Given the description of an element on the screen output the (x, y) to click on. 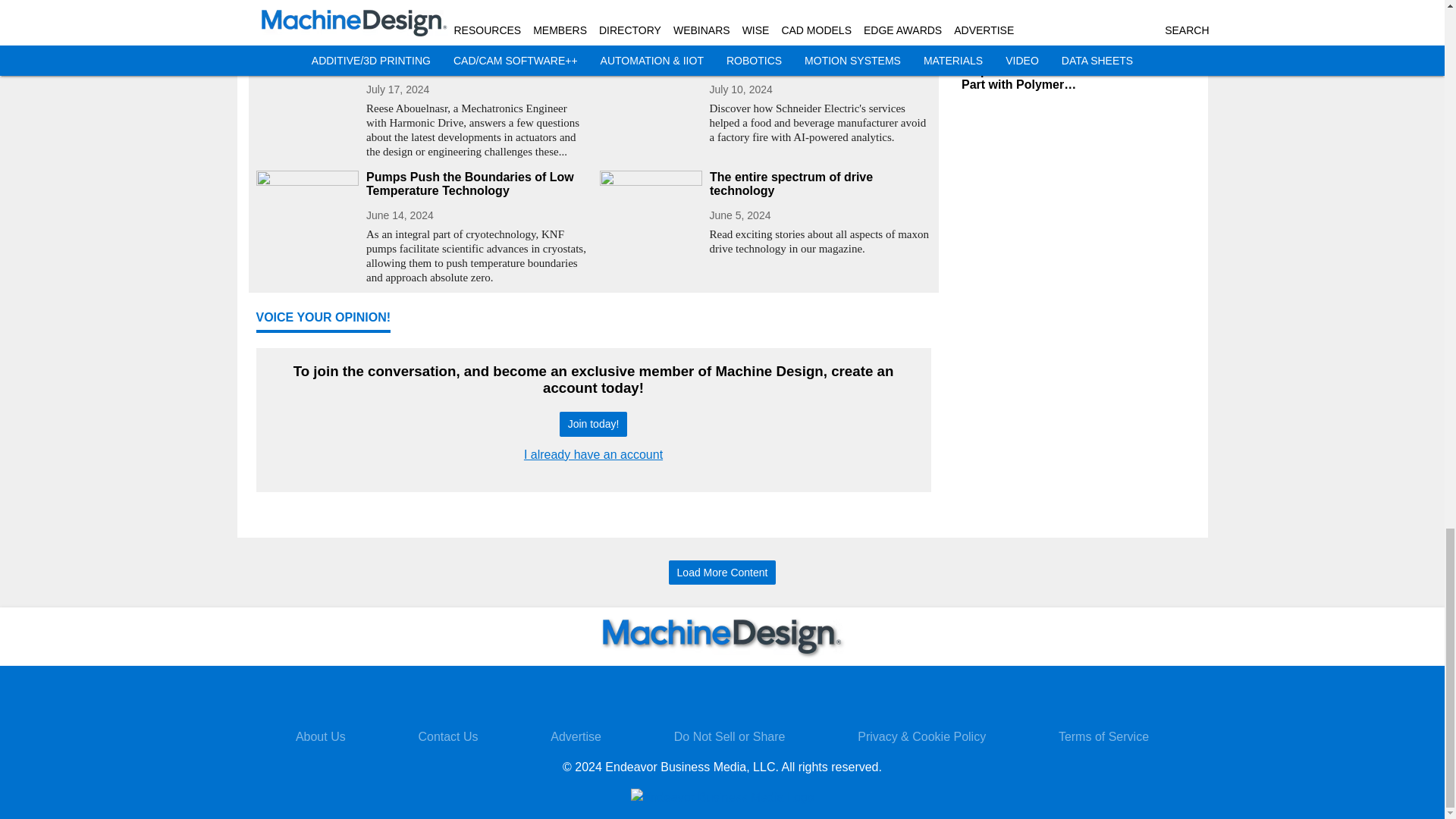
The entire spectrum of drive technology (820, 184)
Pumps Push the Boundaries of Low Temperature Technology (476, 184)
Join today! (593, 423)
How to Build Better Robotics with Integrated Actuators (476, 58)
